Given the description of an element on the screen output the (x, y) to click on. 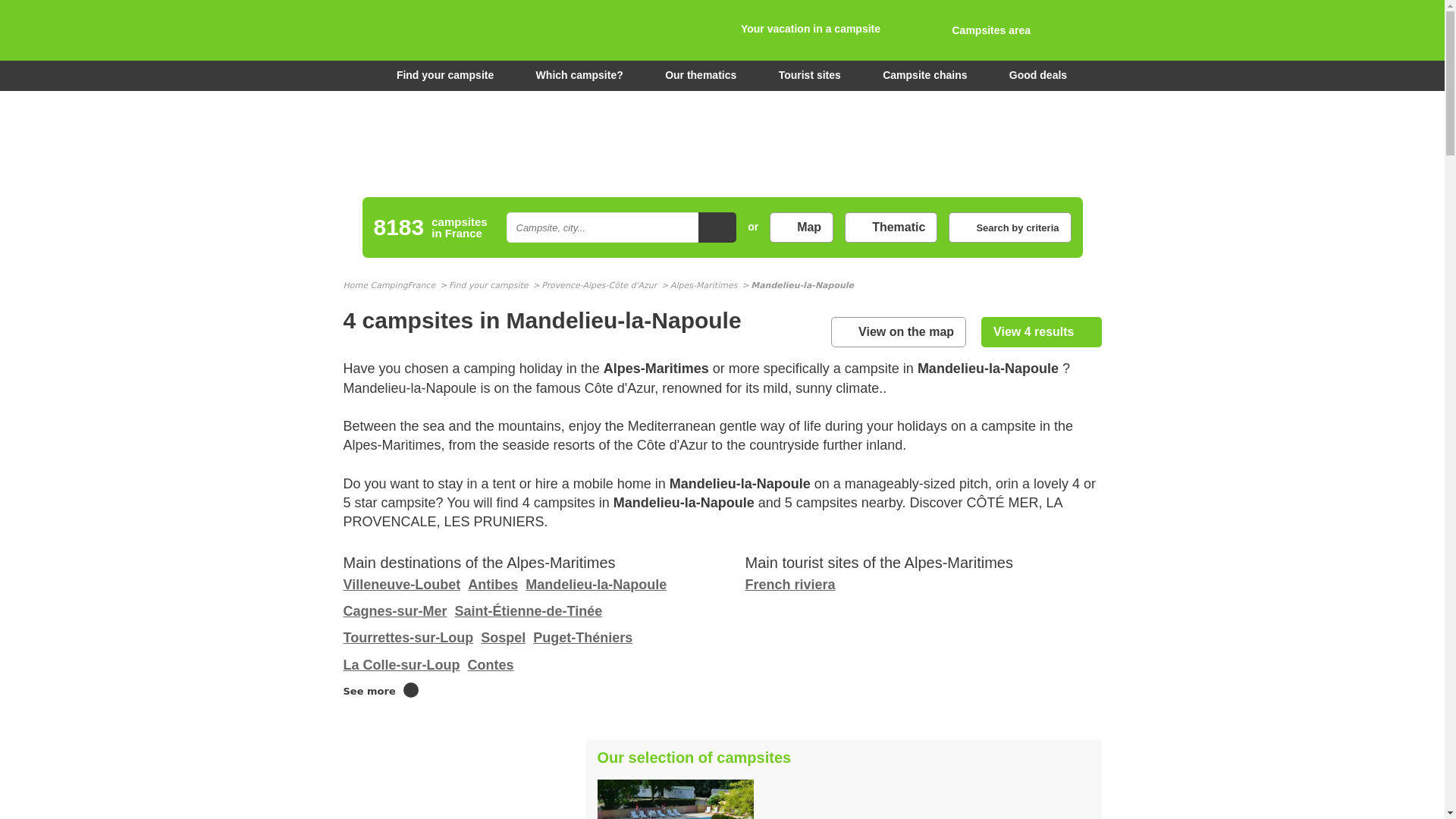
Switch language (1084, 32)
Our thematics (701, 75)
Campsites area (975, 30)
Search by criteria (1009, 227)
Campsite chains (924, 75)
Login (975, 30)
Find your campsite (434, 75)
CampingFrance.com (721, 30)
Find your campsite (434, 75)
Good deals (1037, 75)
Tourist sites (809, 75)
Thematic (890, 227)
Our thematics (701, 75)
Tourist sites (809, 75)
